Given the description of an element on the screen output the (x, y) to click on. 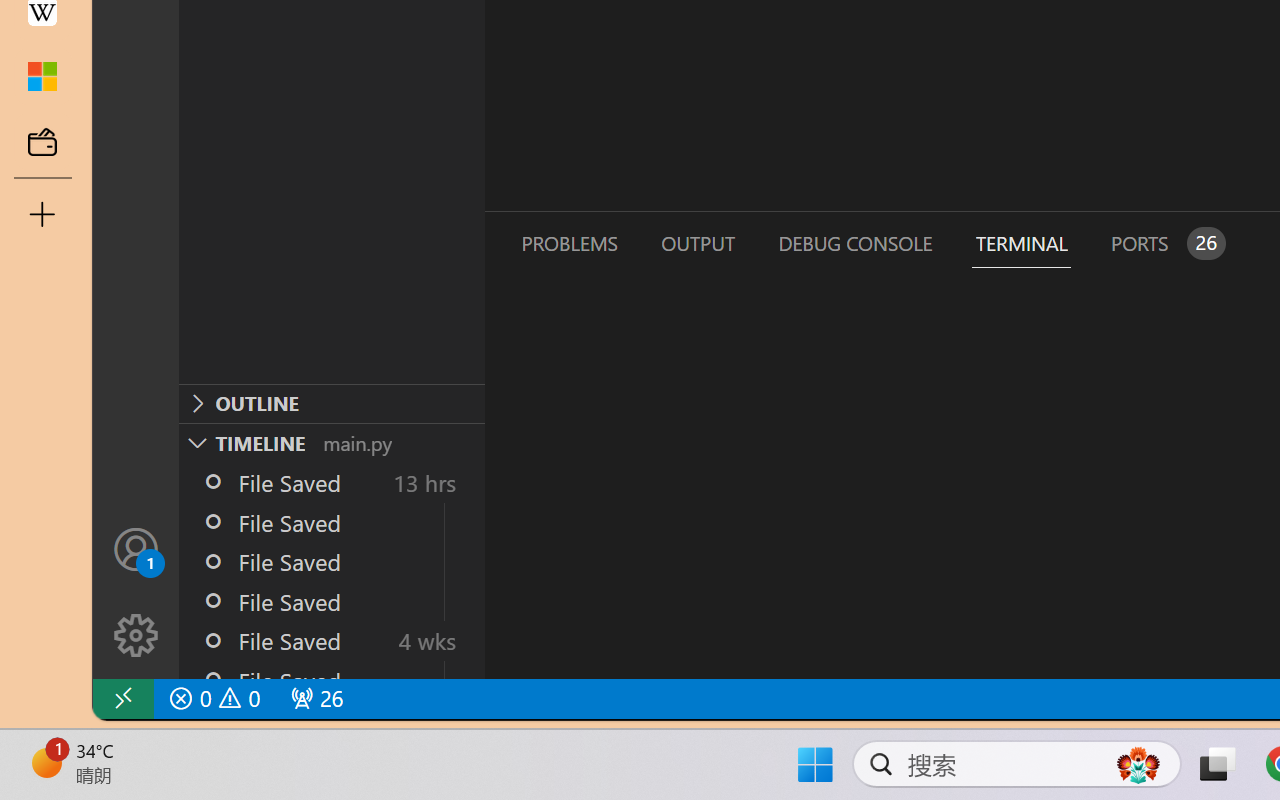
remote (122, 698)
Debug Console (Ctrl+Shift+Y) (854, 243)
Terminal (Ctrl+`) (1021, 243)
Problems (Ctrl+Shift+M) (567, 243)
